Given the description of an element on the screen output the (x, y) to click on. 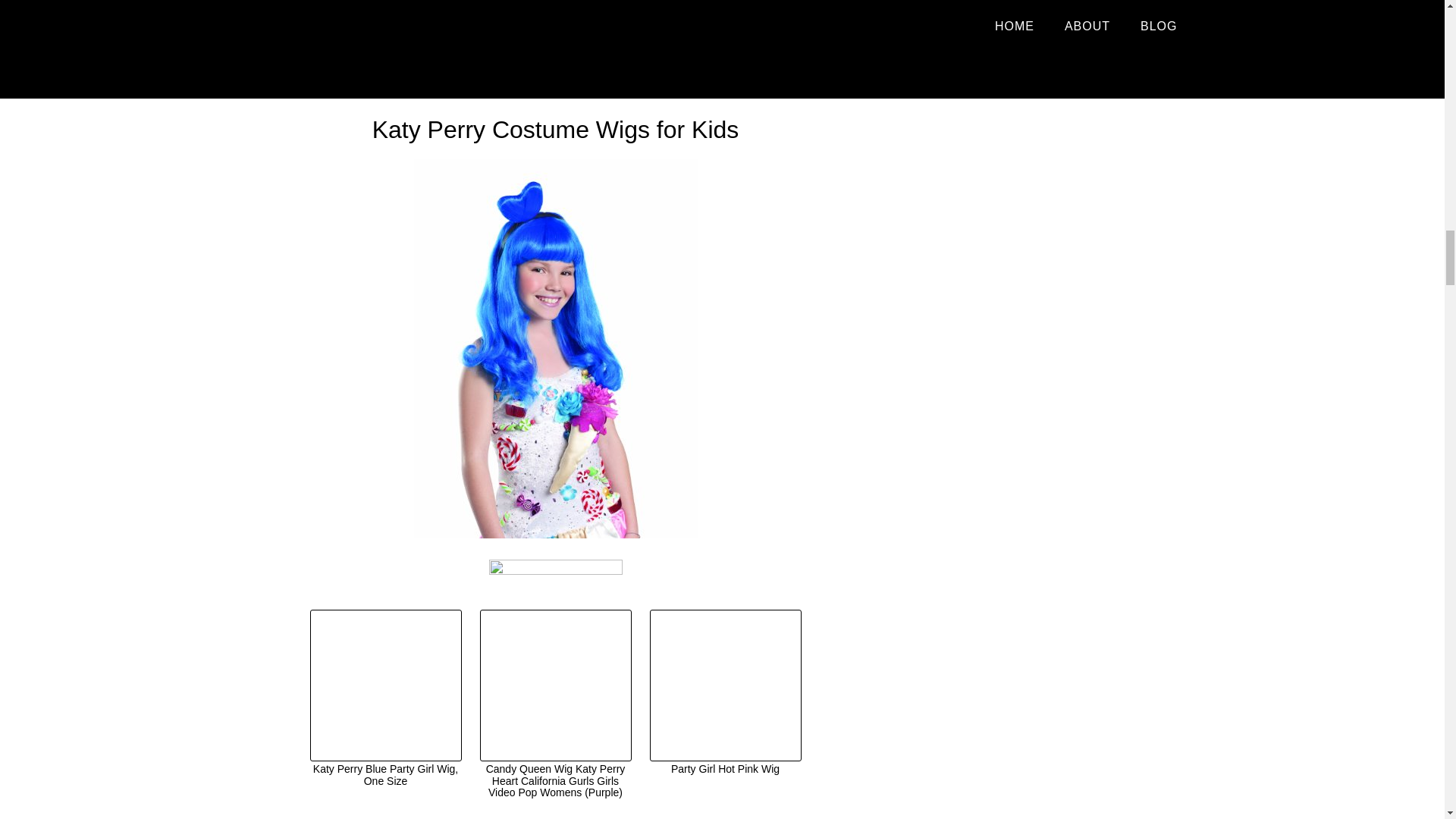
Party Girl Hot Pink Wig (724, 693)
